Given the description of an element on the screen output the (x, y) to click on. 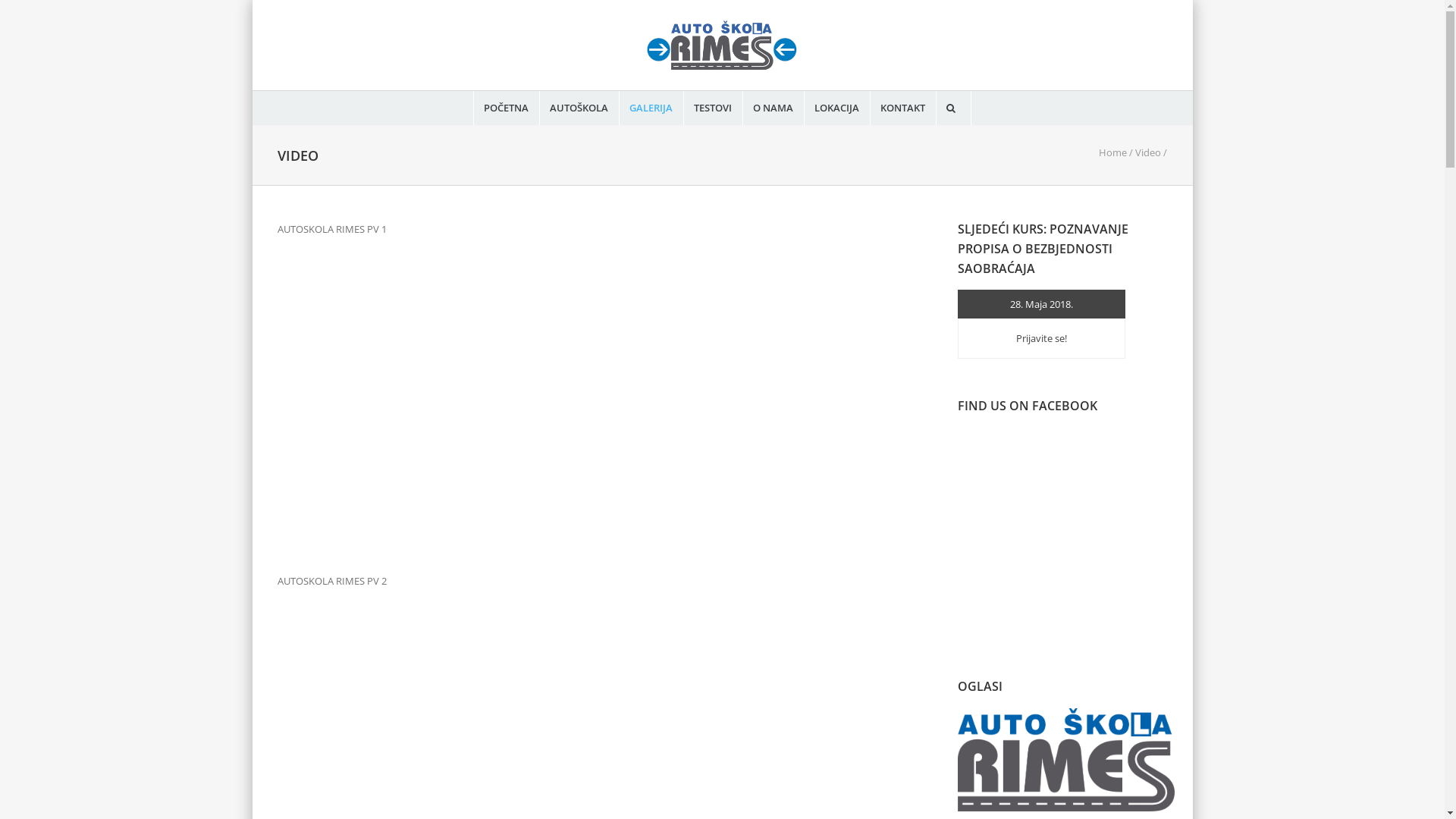
Home Element type: text (1112, 152)
KONTAKT Element type: text (902, 107)
GALERIJA Element type: text (650, 107)
O NAMA Element type: text (772, 107)
TESTOVI Element type: text (712, 107)
LOKACIJA Element type: text (836, 107)
